Given the description of an element on the screen output the (x, y) to click on. 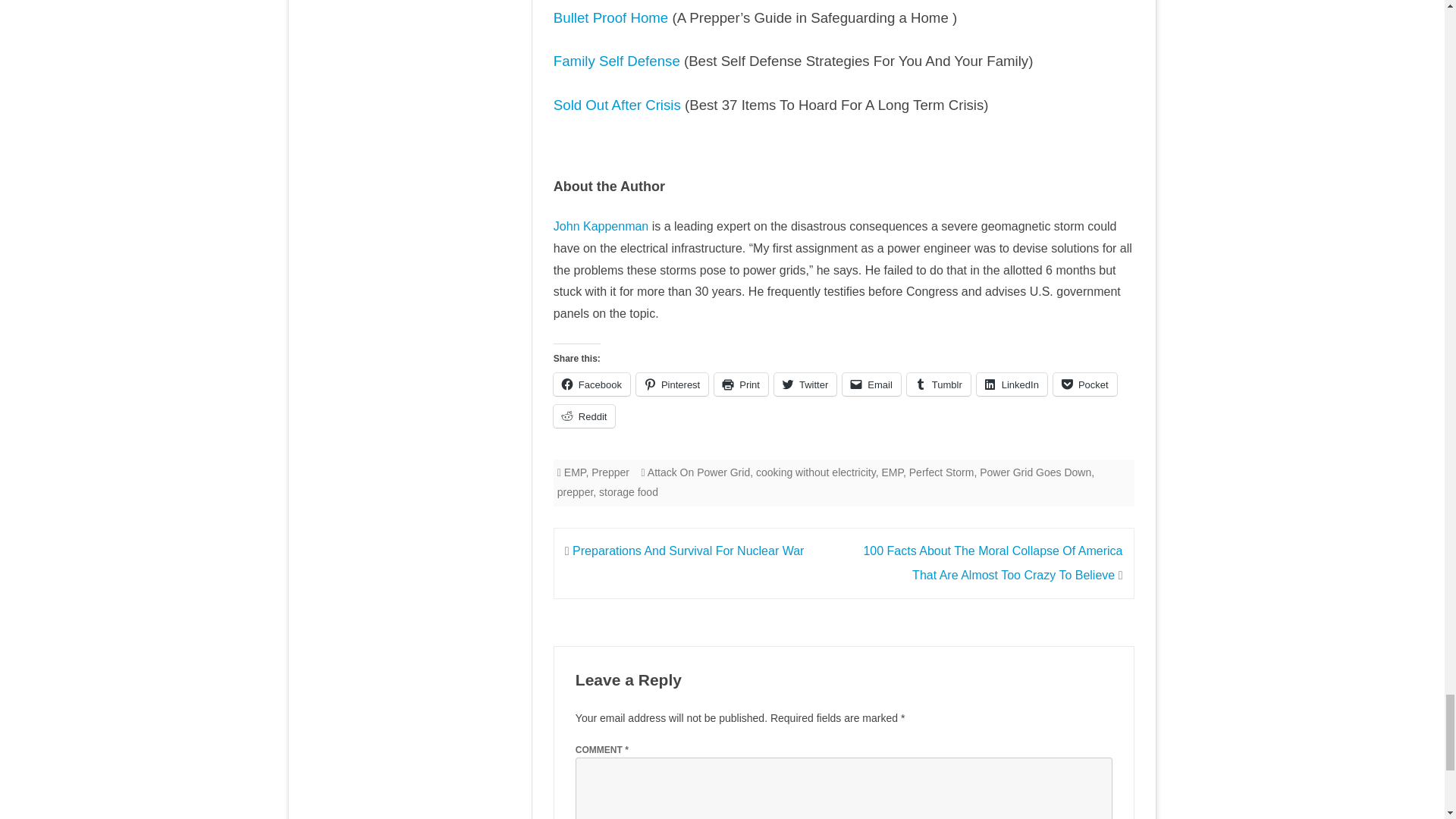
Click to share on Tumblr (939, 384)
Click to share on Twitter (804, 384)
Click to email a link to a friend (872, 384)
Click to print (741, 384)
Click to share on Facebook (591, 384)
Click to share on LinkedIn (1011, 384)
Click to share on Pinterest (671, 384)
